Given the description of an element on the screen output the (x, y) to click on. 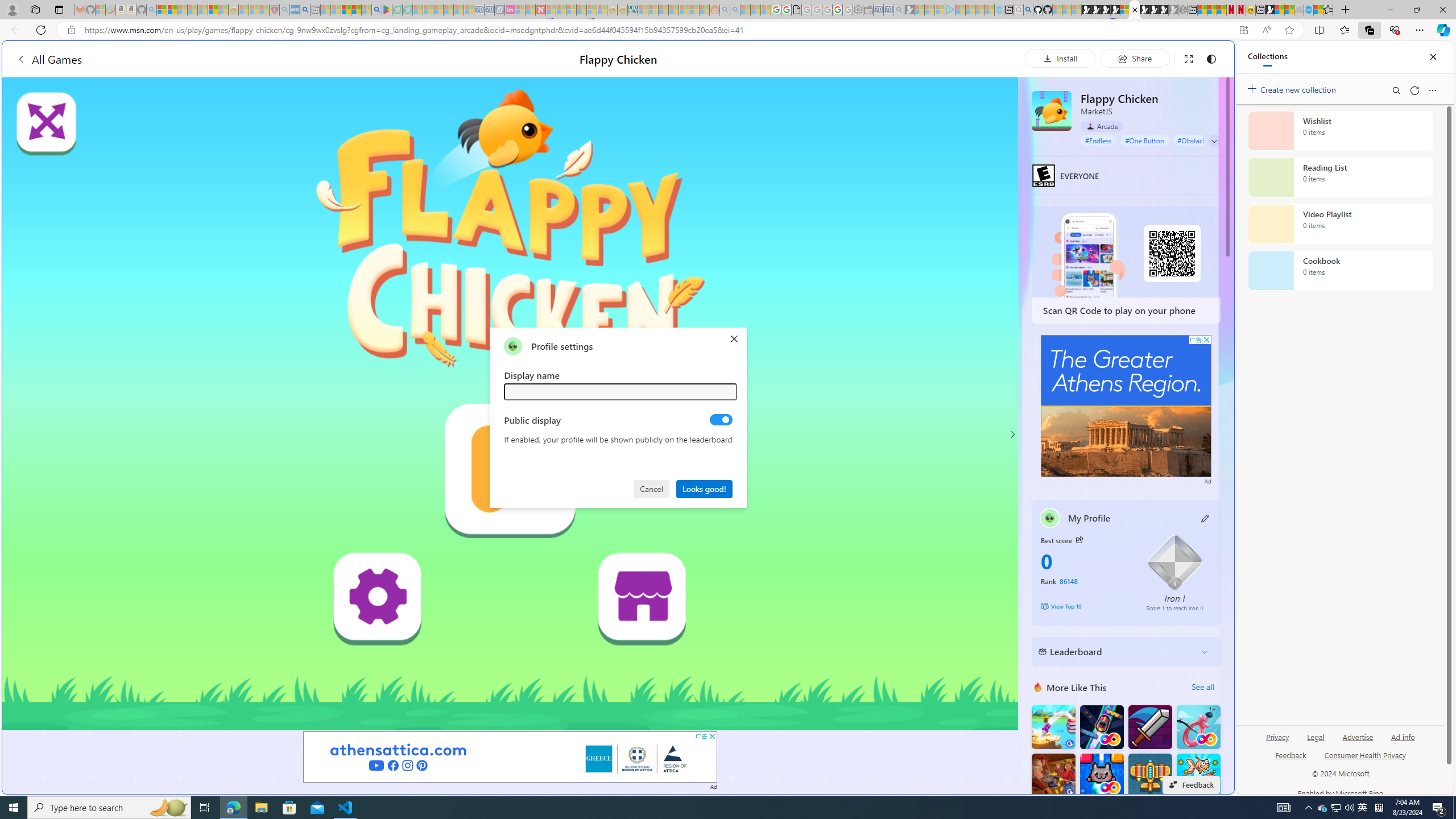
#Endless (1098, 140)
Earth has six continents not seven, radical new study claims (1288, 9)
Bumper Car FRVR (1101, 726)
#Obstacle Course (1203, 140)
